Given the description of an element on the screen output the (x, y) to click on. 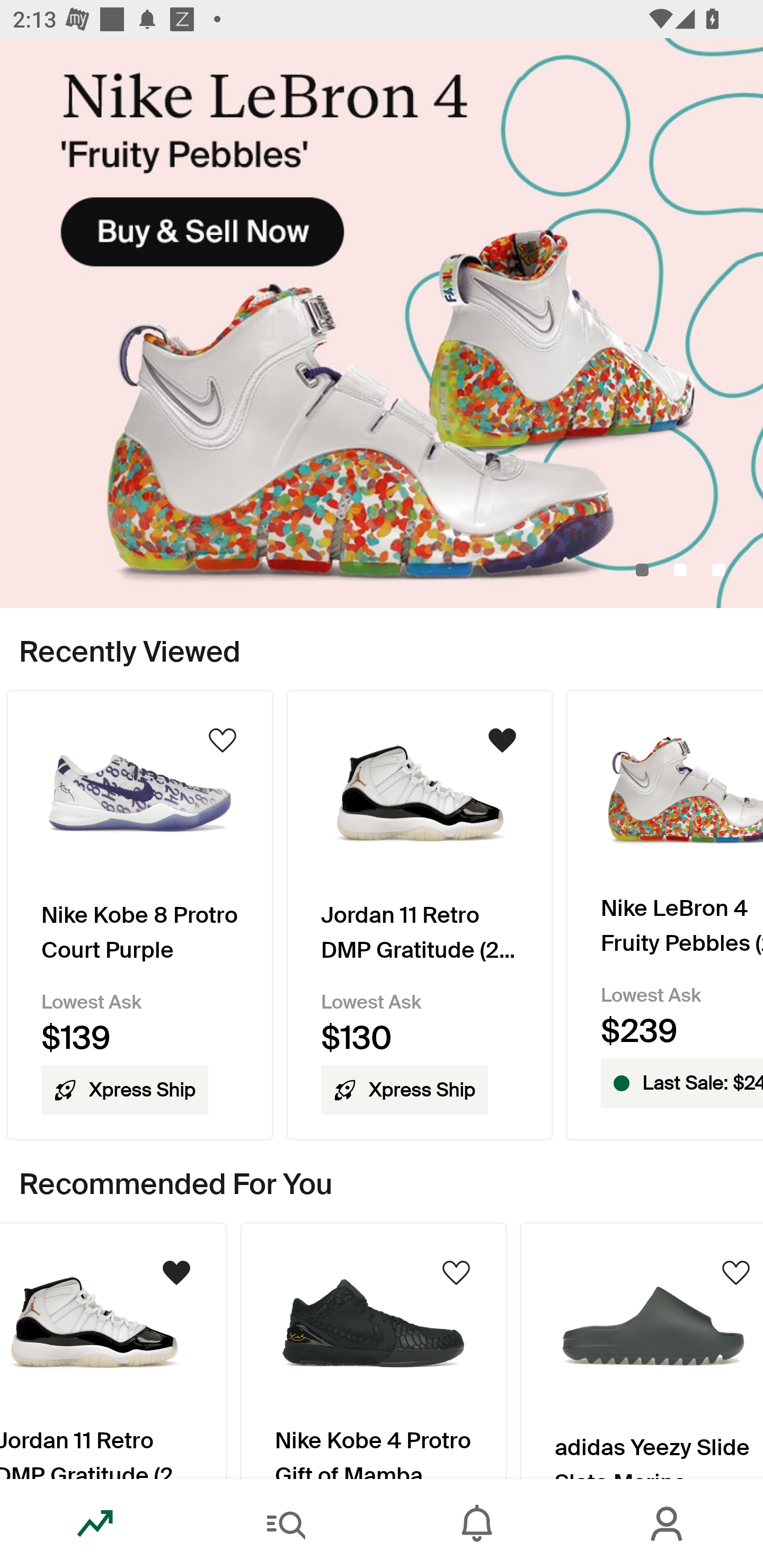
Product Image Nike Kobe 4 Protro Gift of Mamba (373, 1349)
Product Image adidas Yeezy Slide Slate Marine (641, 1349)
Search (285, 1523)
Inbox (476, 1523)
Account (667, 1523)
